Given the description of an element on the screen output the (x, y) to click on. 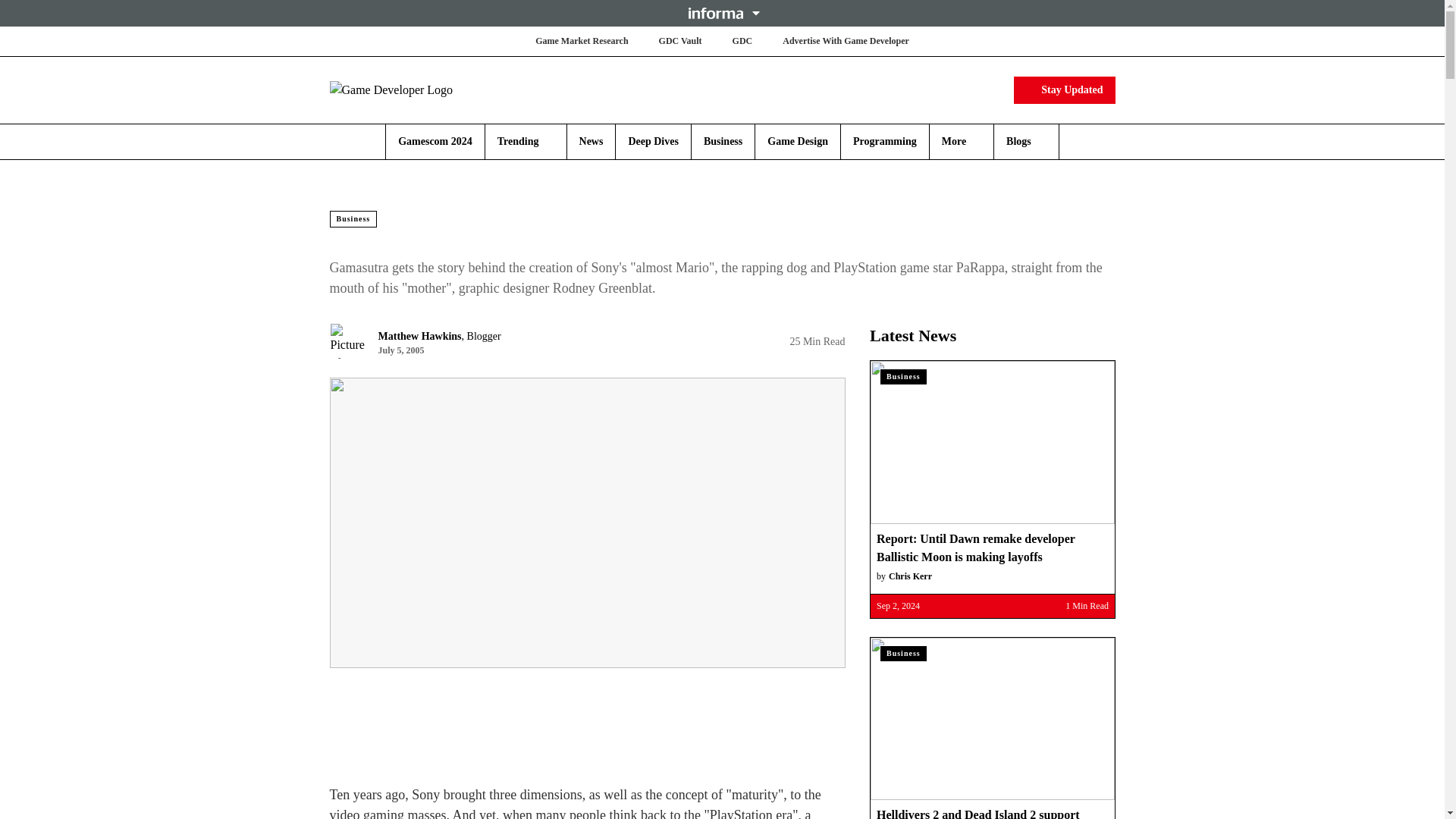
Game Developer Logo (419, 90)
Programming (885, 141)
Game Design (797, 141)
Deep Dives (652, 141)
News (591, 141)
GDC Vault (680, 41)
Gamescom 2024 (434, 141)
GDC (742, 41)
Game Market Research (581, 41)
Stay Updated (1064, 89)
